Given the description of an element on the screen output the (x, y) to click on. 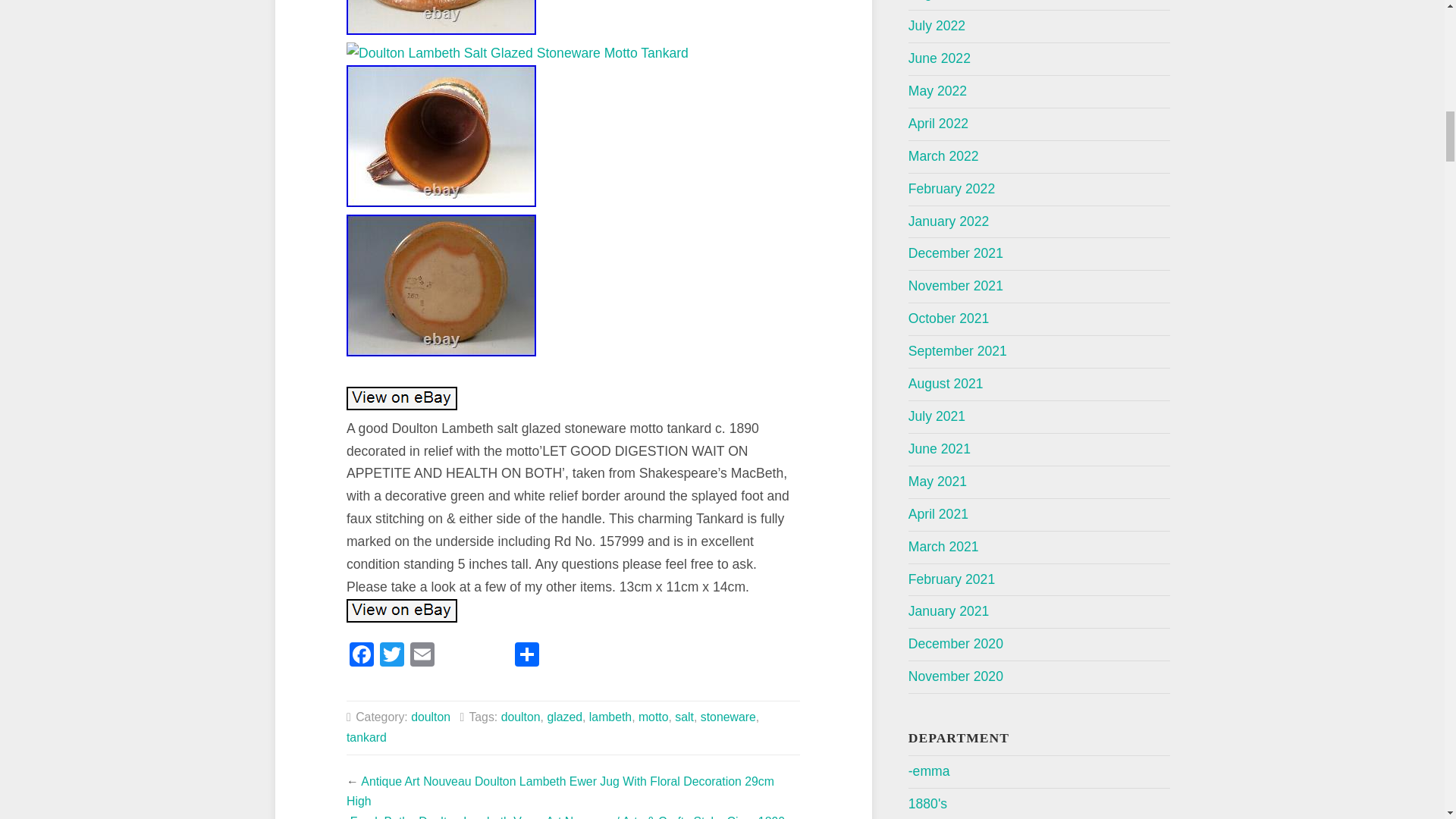
stoneware (727, 716)
Twitter (392, 656)
Twitter (392, 656)
Doulton Lambeth Salt Glazed Stoneware Motto Tankard (440, 285)
Doulton Lambeth Salt Glazed Stoneware Motto Tankard (440, 136)
Doulton Lambeth Salt Glazed Stoneware Motto Tankard (401, 610)
doulton (520, 716)
Email (422, 656)
glazed (564, 716)
Facebook (361, 656)
salt (684, 716)
doulton (429, 716)
tankard (366, 737)
Doulton Lambeth Salt Glazed Stoneware Motto Tankard (440, 17)
